Given the description of an element on the screen output the (x, y) to click on. 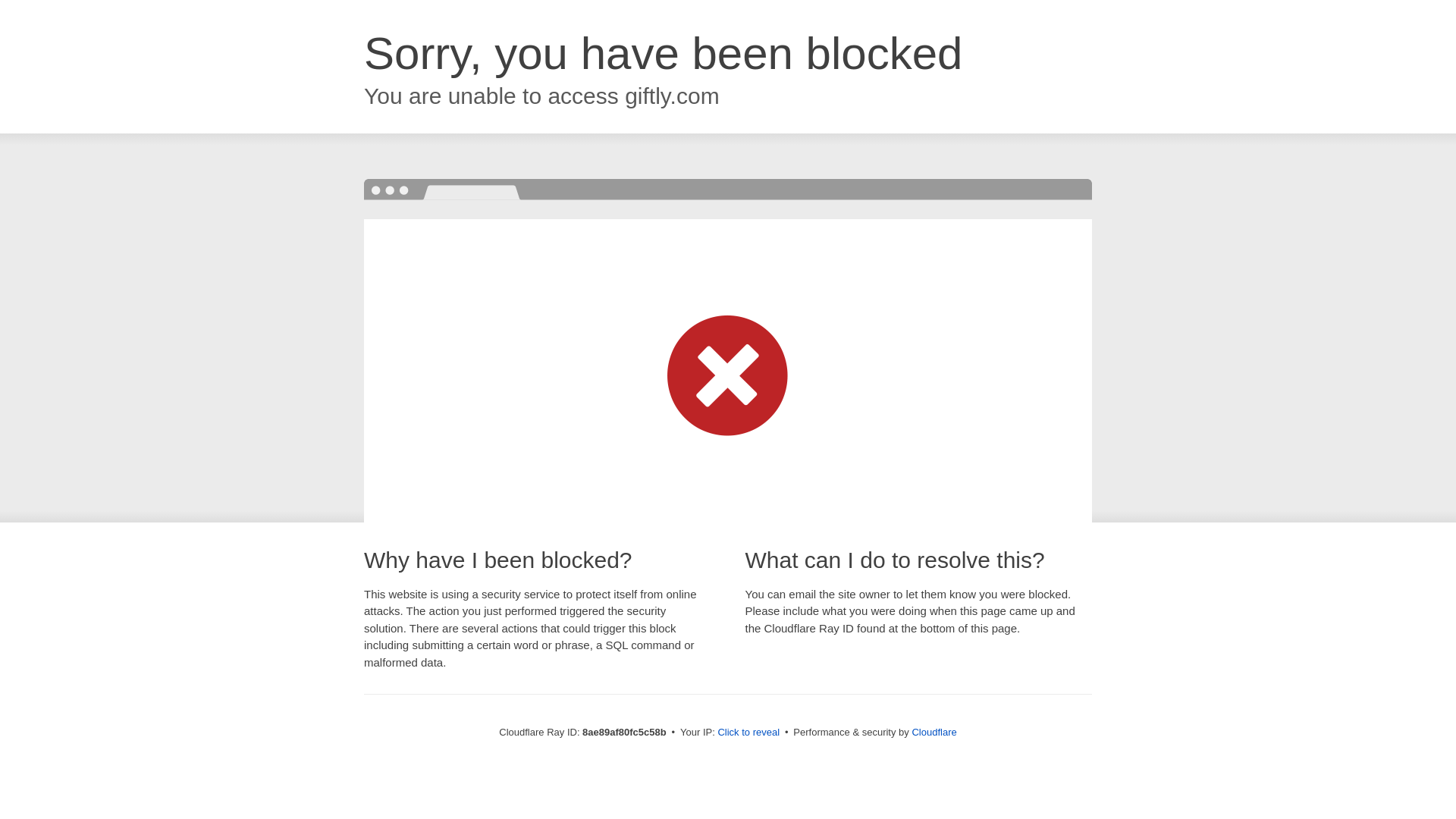
Cloudflare (933, 731)
Click to reveal (747, 732)
